Given the description of an element on the screen output the (x, y) to click on. 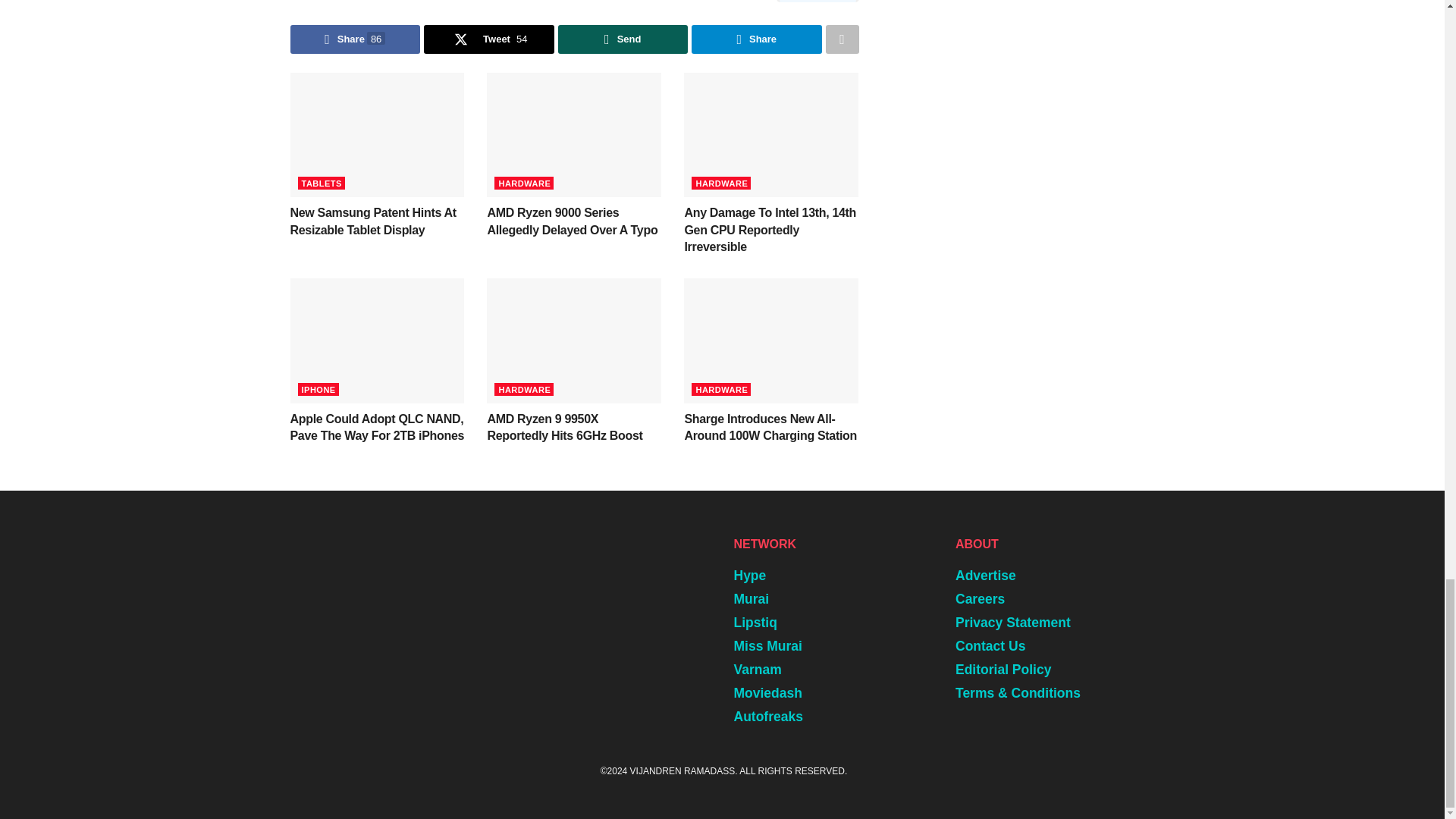
New Samsung Patent Hints At Resizable Tablet Display 3 (376, 134)
Sharge Introduces New All-Around 100W Charging Station 8 (771, 340)
Apple Could Adopt QLC NAND, Pave The Way For 2TB iPhones 6 (376, 340)
AMD Ryzen 9 9950X Reportedly Hits 6GHz Boost 7 (573, 340)
AMD Ryzen 9000 Series Allegedly Delayed Over A Typo 4 (573, 134)
